Given the description of an element on the screen output the (x, y) to click on. 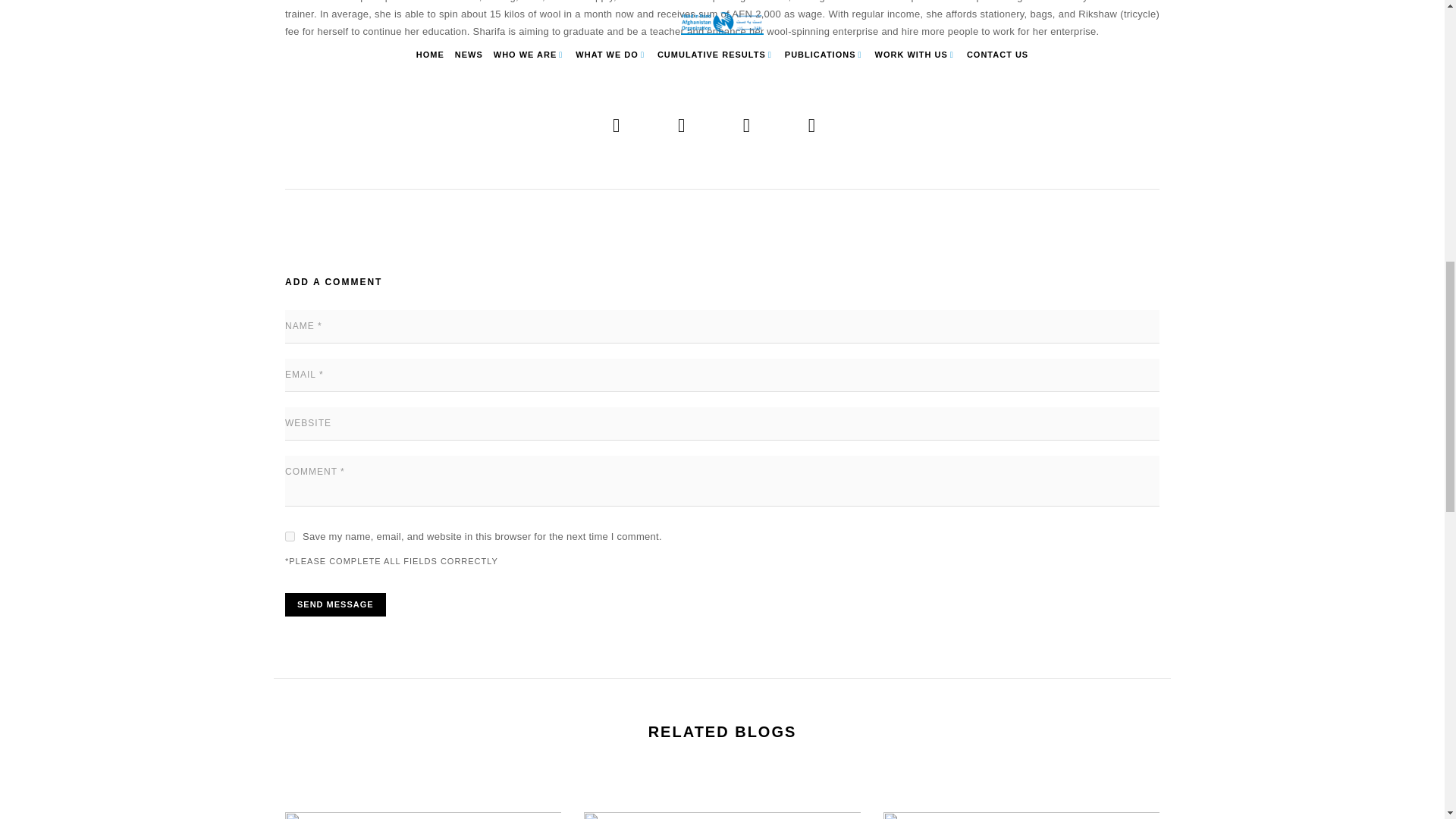
send message (335, 604)
yes (290, 536)
